Given the description of an element on the screen output the (x, y) to click on. 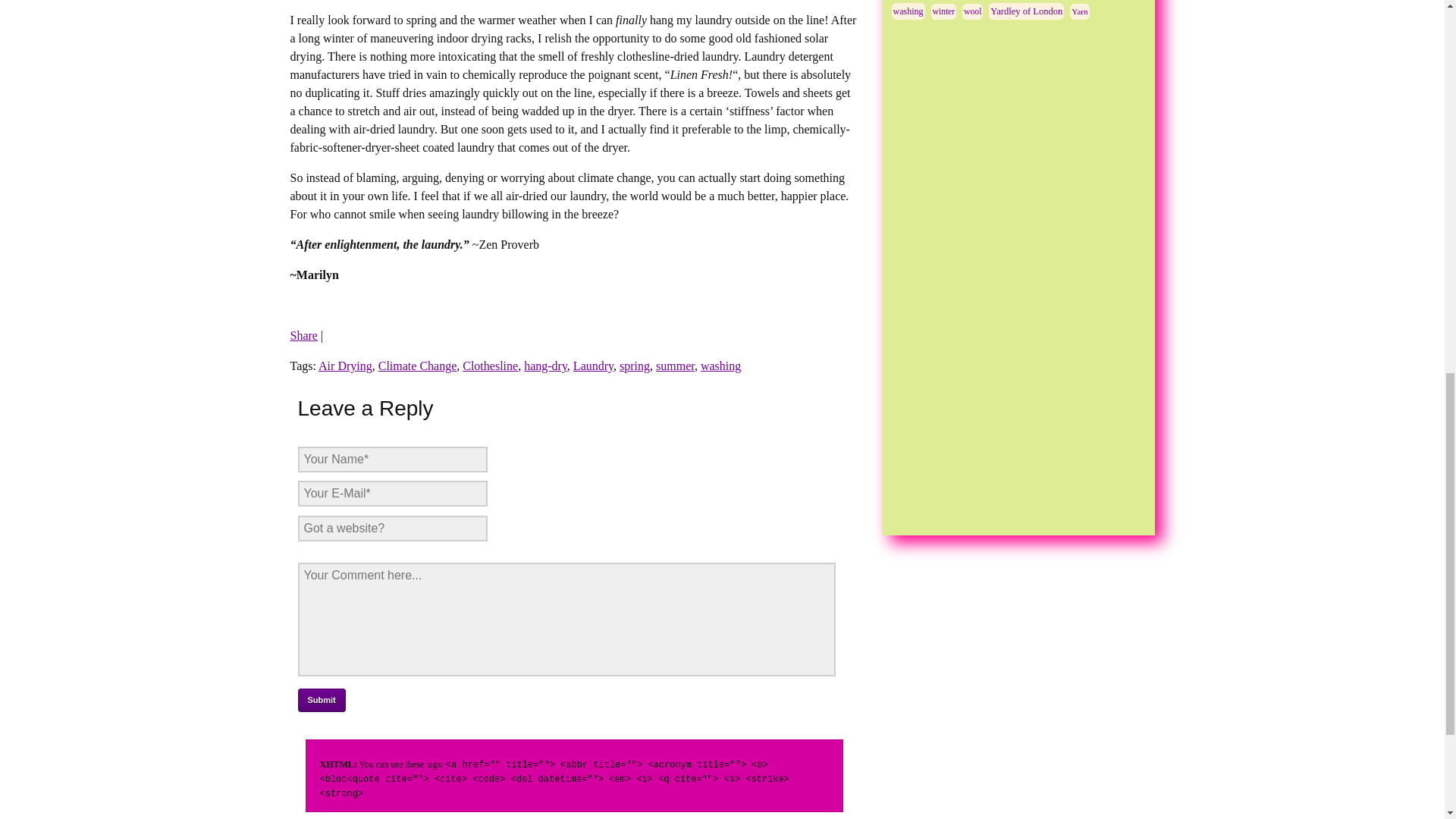
spring (634, 365)
Share (303, 335)
hang-dry (545, 365)
summer (675, 365)
Laundry (592, 365)
washing (720, 365)
Climate Change (417, 365)
Air Drying (345, 365)
Submit (321, 699)
Submit (321, 699)
Clothesline (490, 365)
